Given the description of an element on the screen output the (x, y) to click on. 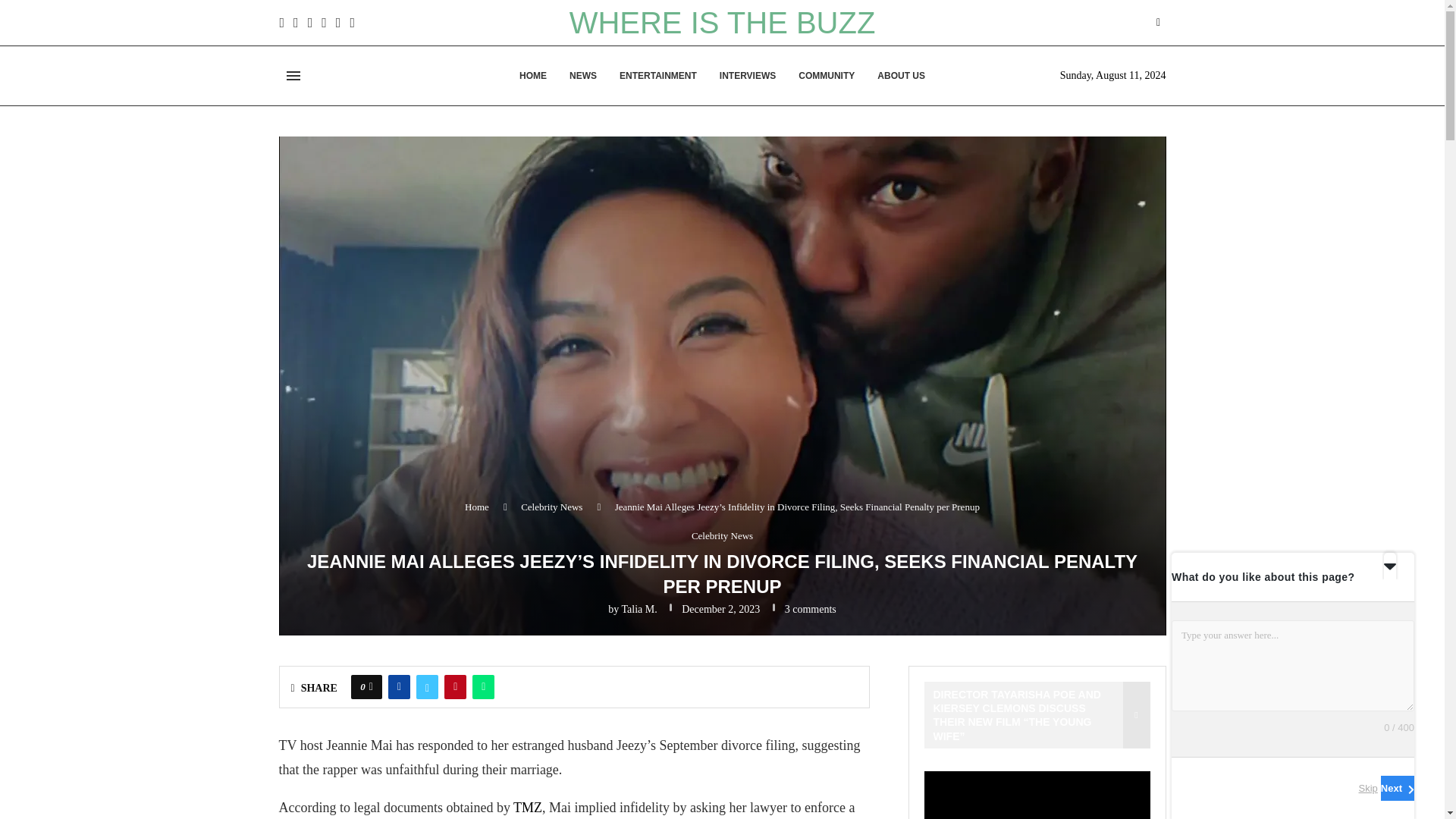
ENTERTAINMENT (658, 75)
COMMUNITY (825, 75)
INTERVIEWS (747, 75)
WHERE IS THE BUZZ (722, 22)
ABOUT US (900, 75)
